Given the description of an element on the screen output the (x, y) to click on. 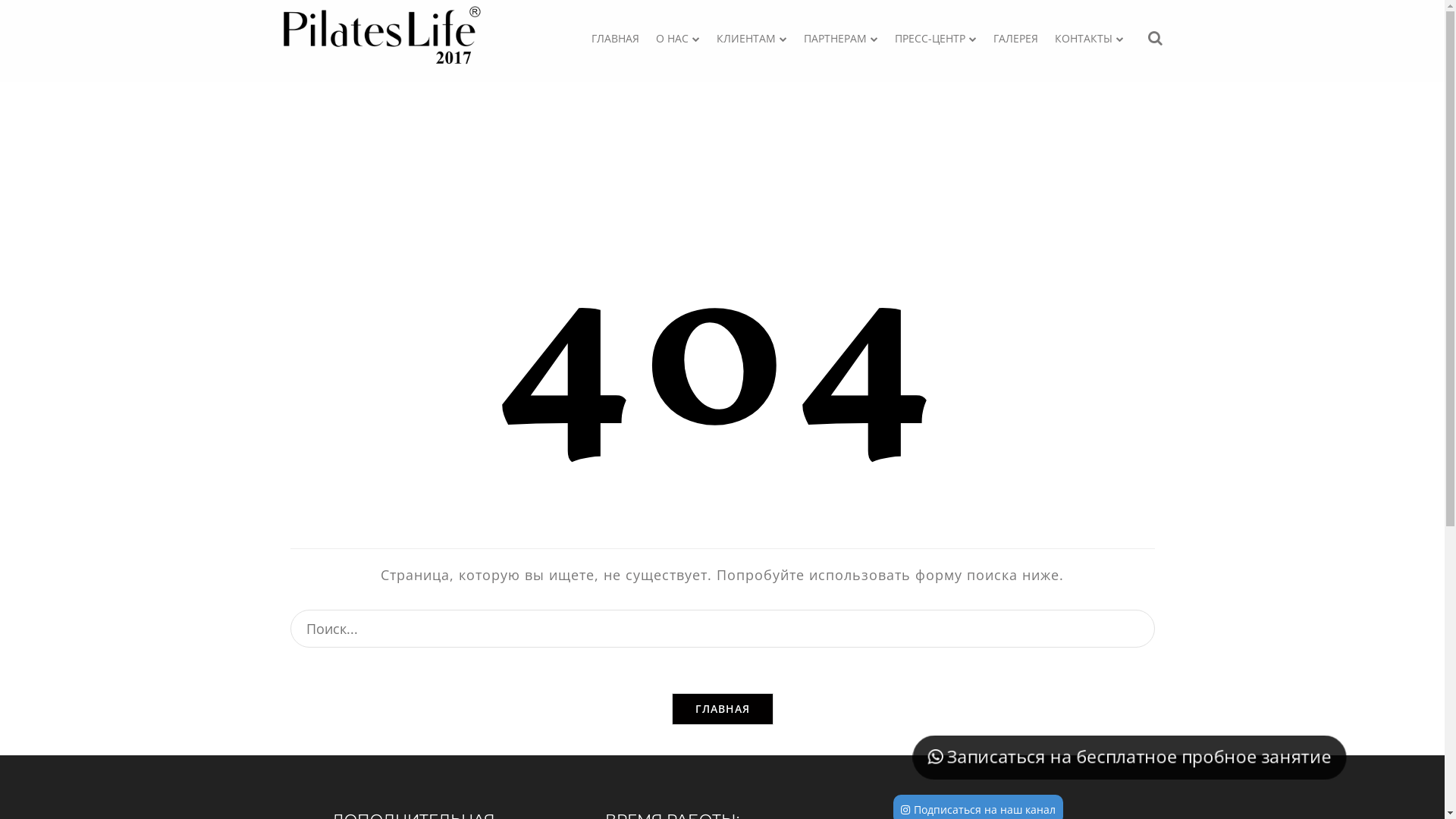
Skip to content Element type: text (0, 0)
Search for: Element type: hover (721, 628)
